Given the description of an element on the screen output the (x, y) to click on. 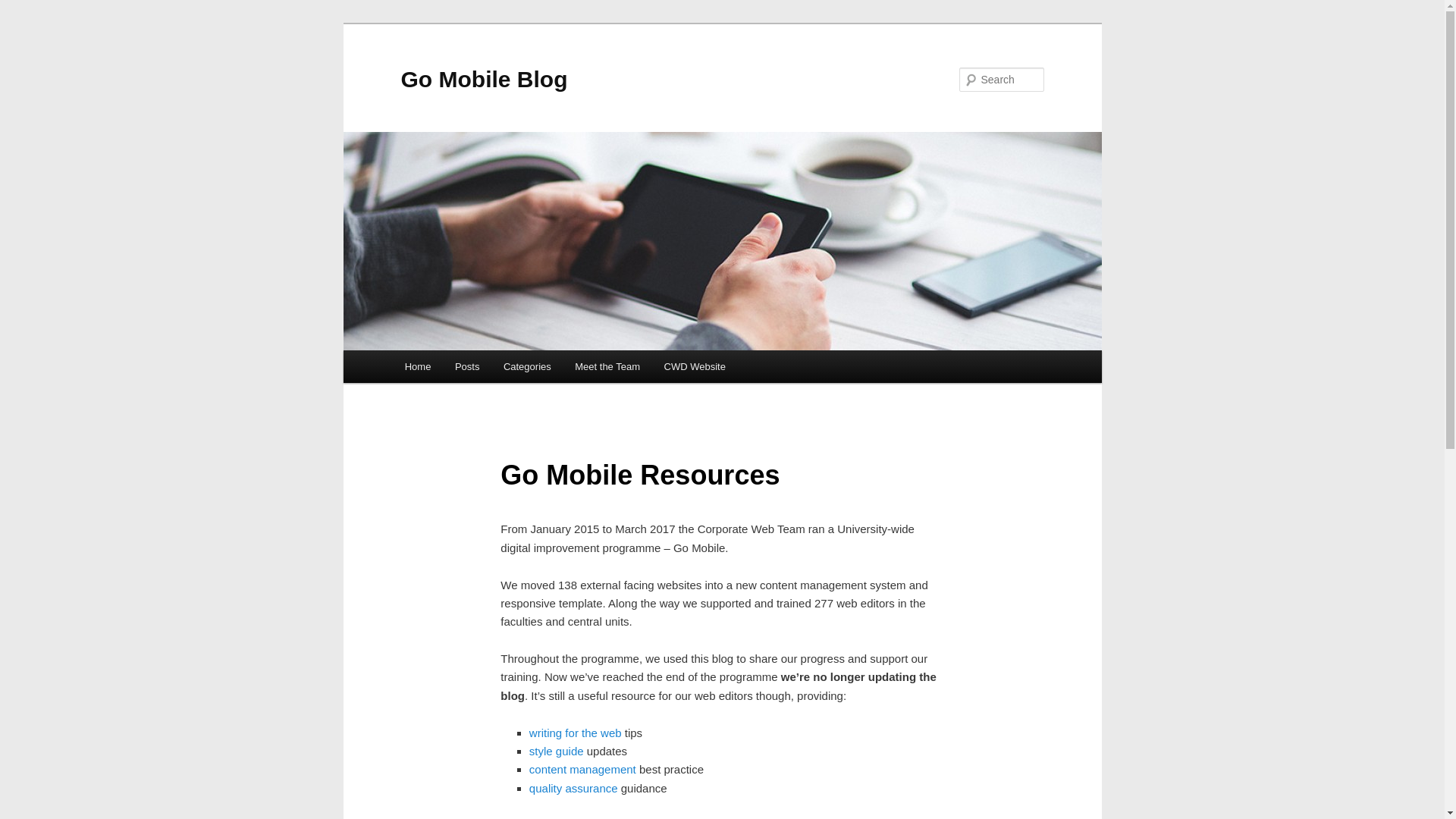
style guide (556, 750)
Posts (467, 366)
quality assurance (573, 788)
Meet the Team (607, 366)
content management (584, 768)
writing for the web (575, 732)
Search (24, 8)
Categories (527, 366)
Go Mobile Blog (483, 78)
